Given the description of an element on the screen output the (x, y) to click on. 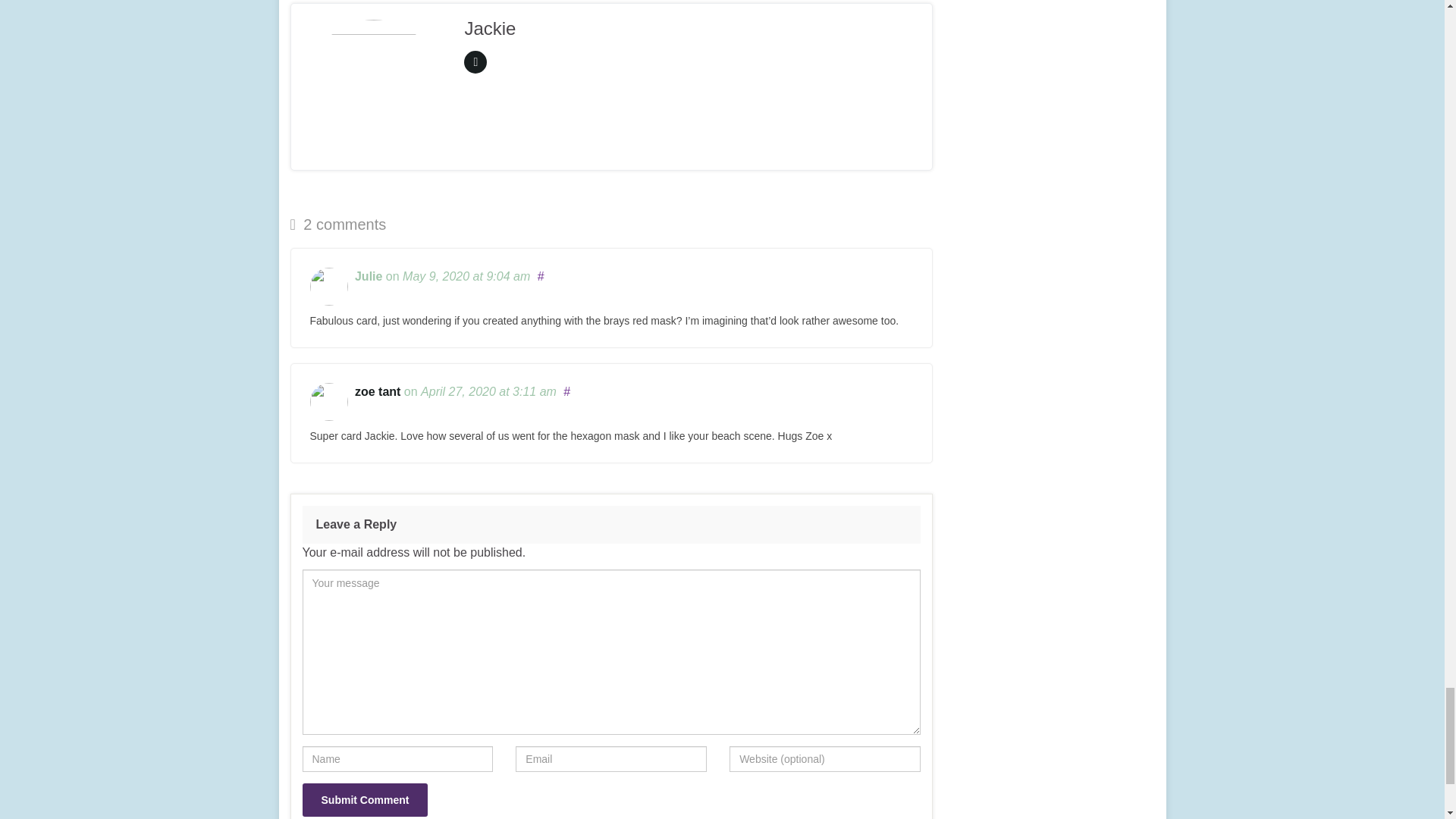
Submit Comment (364, 799)
